Given the description of an element on the screen output the (x, y) to click on. 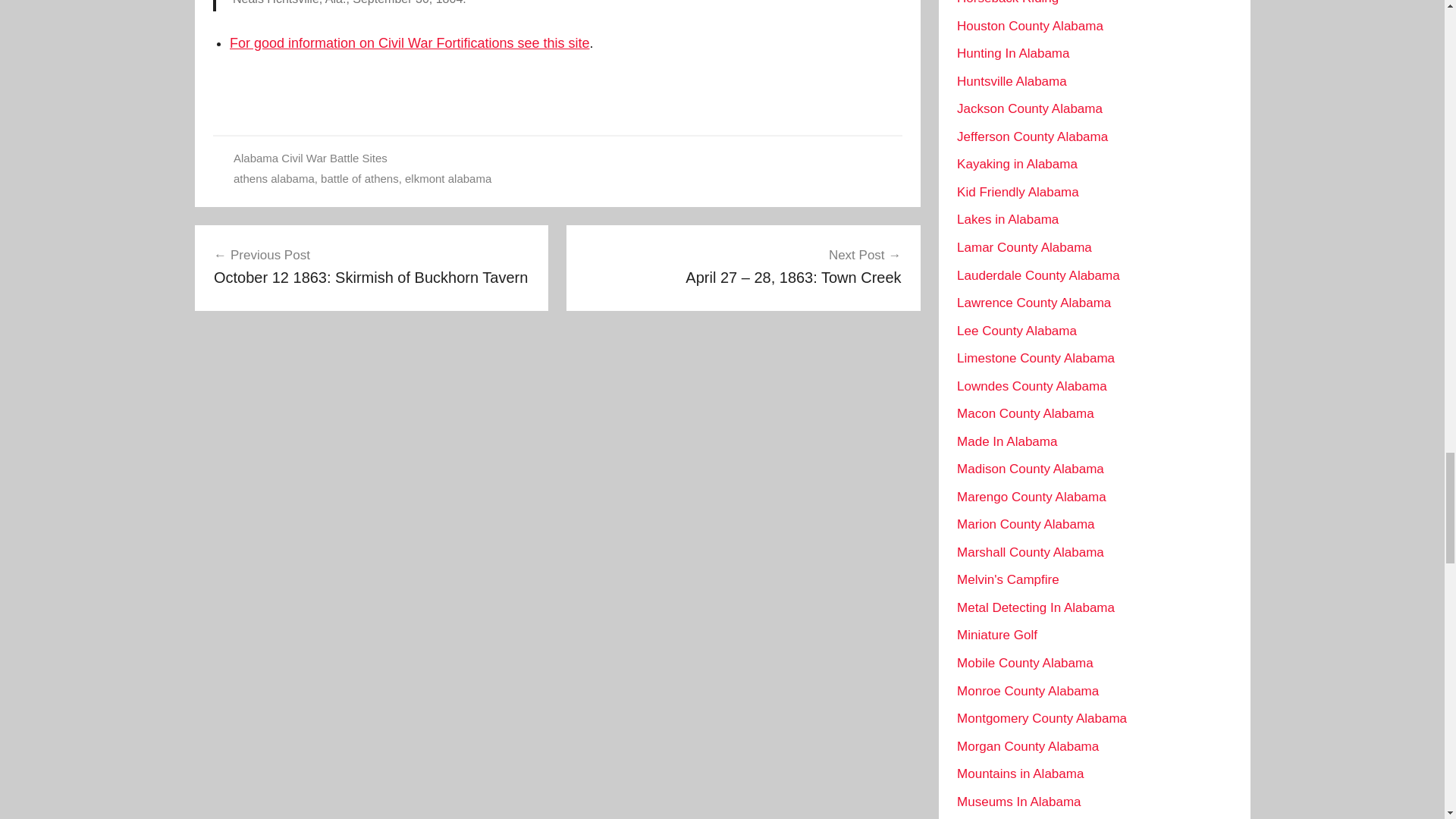
athens alabama (273, 178)
elkmont alabama (448, 178)
Alabama Civil War Battle Sites (371, 266)
battle of athens (309, 157)
